Given the description of an element on the screen output the (x, y) to click on. 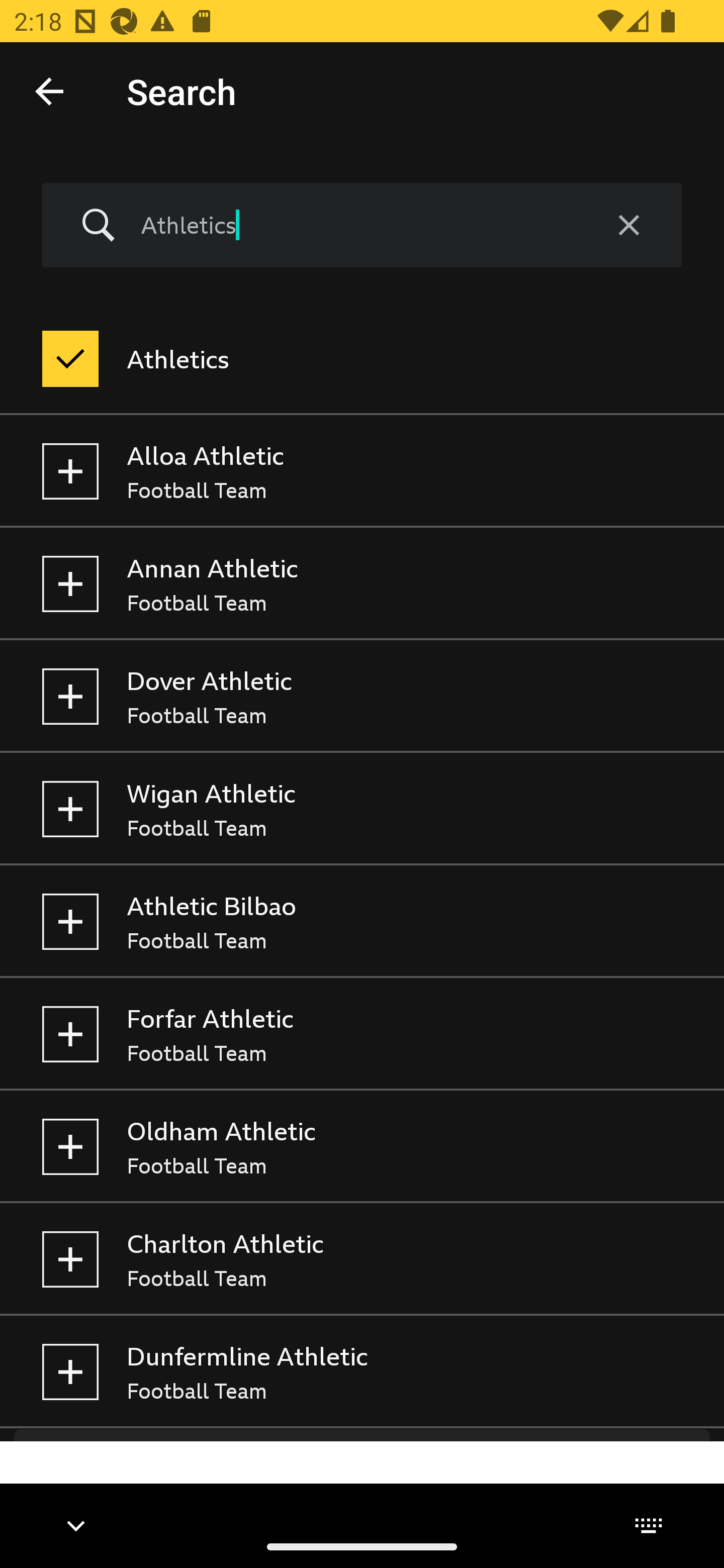
Done (49, 90)
Athletics Clear query (361, 225)
Clear query (628, 225)
Athletics (358, 224)
Athletics (362, 358)
